Given the description of an element on the screen output the (x, y) to click on. 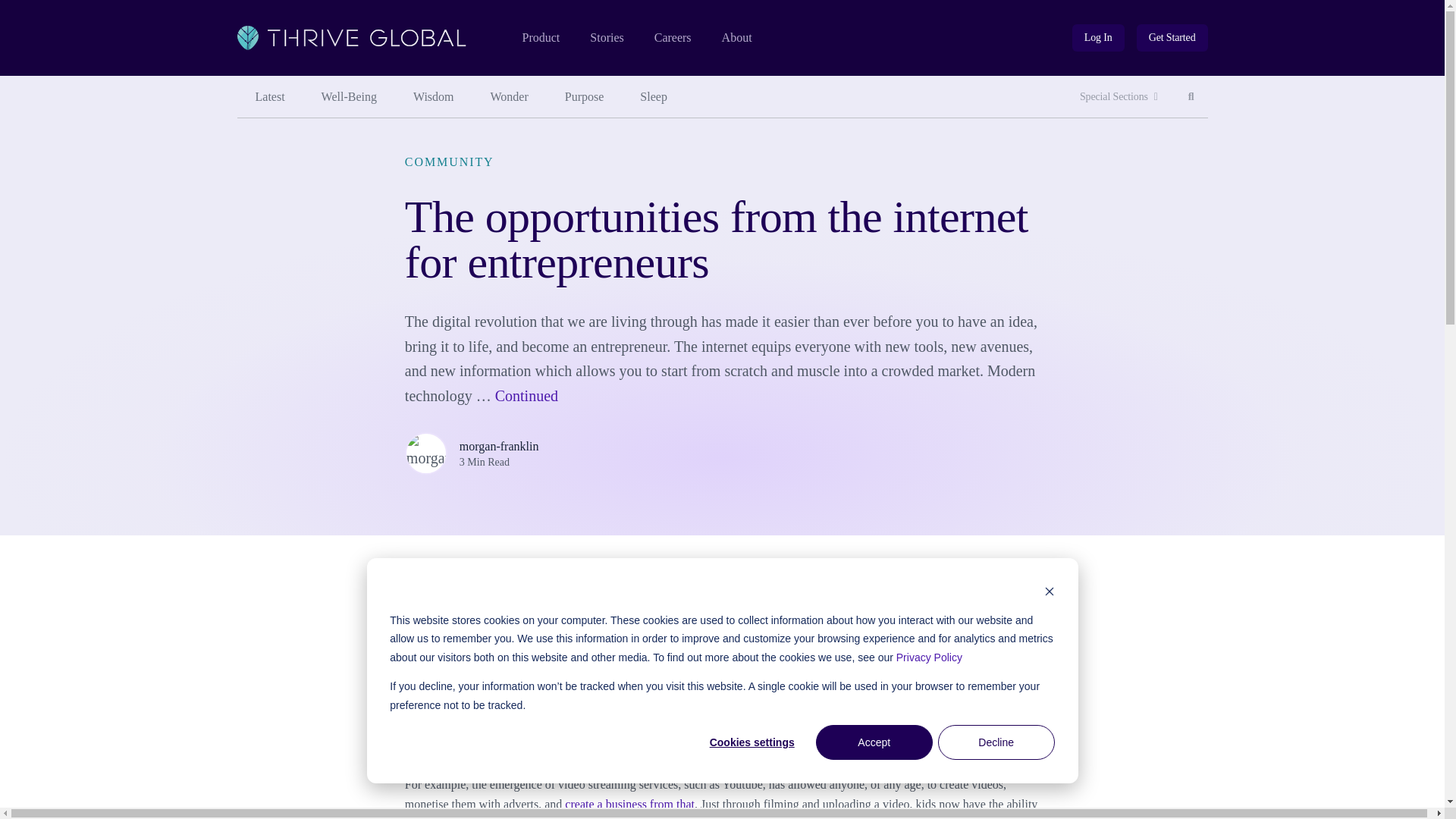
btn-primary (1172, 37)
Well-Being (348, 96)
Get Started (1172, 37)
Purpose (585, 96)
Special Sections (1118, 97)
Wisdom (432, 96)
Careers (672, 37)
About (737, 37)
Wonder (509, 96)
Stories (606, 37)
Sleep (653, 96)
Latest (268, 96)
Product (540, 37)
btn-info (1191, 97)
